Given the description of an element on the screen output the (x, y) to click on. 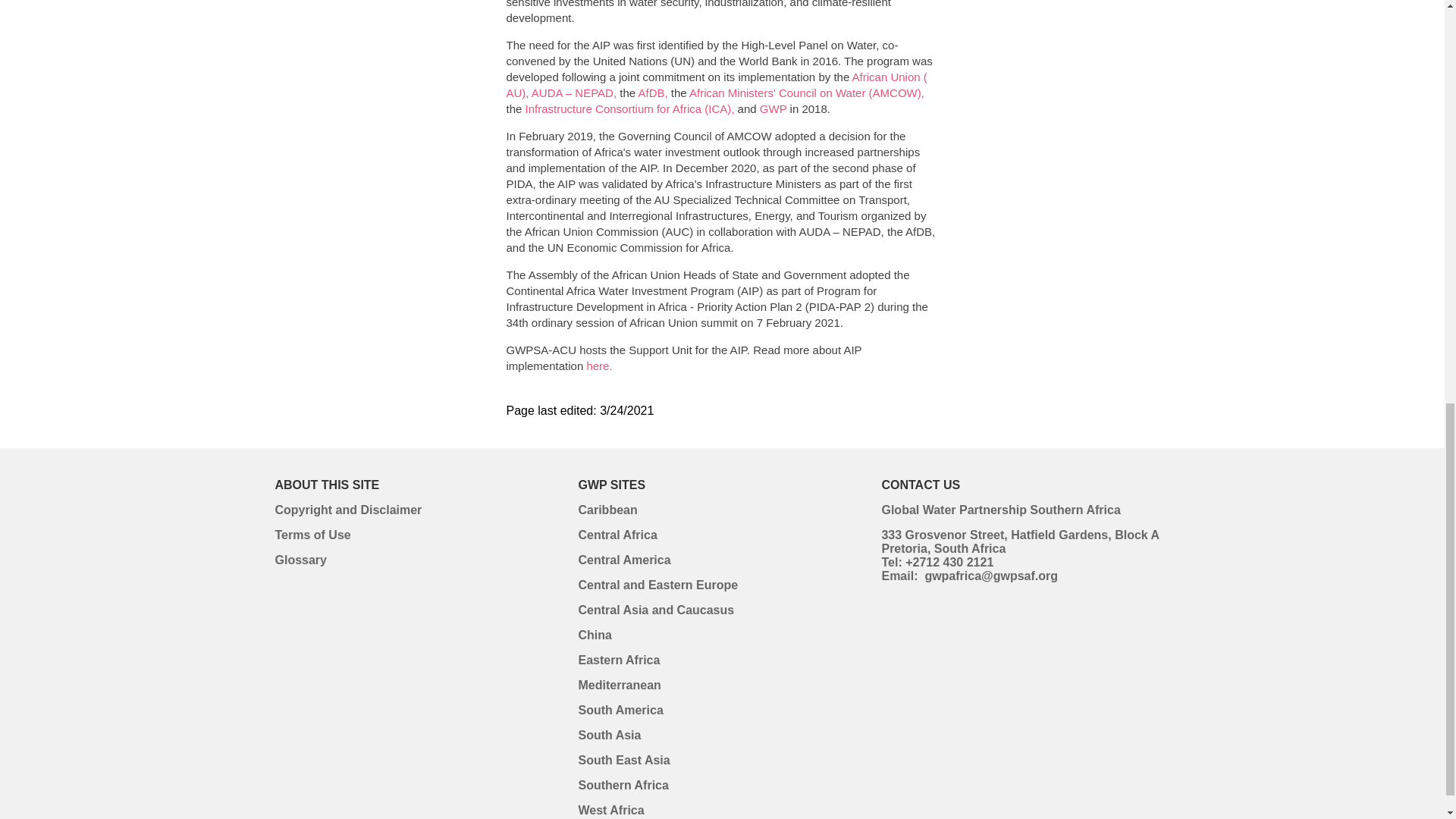
AfDB (651, 92)
AUDA-NEPAD (573, 92)
African Union (716, 84)
The Infrastructure Consortium for Africa (630, 108)
AIP (598, 365)
CACENA (655, 609)
GWP (773, 108)
AMCOW (806, 92)
